Given the description of an element on the screen output the (x, y) to click on. 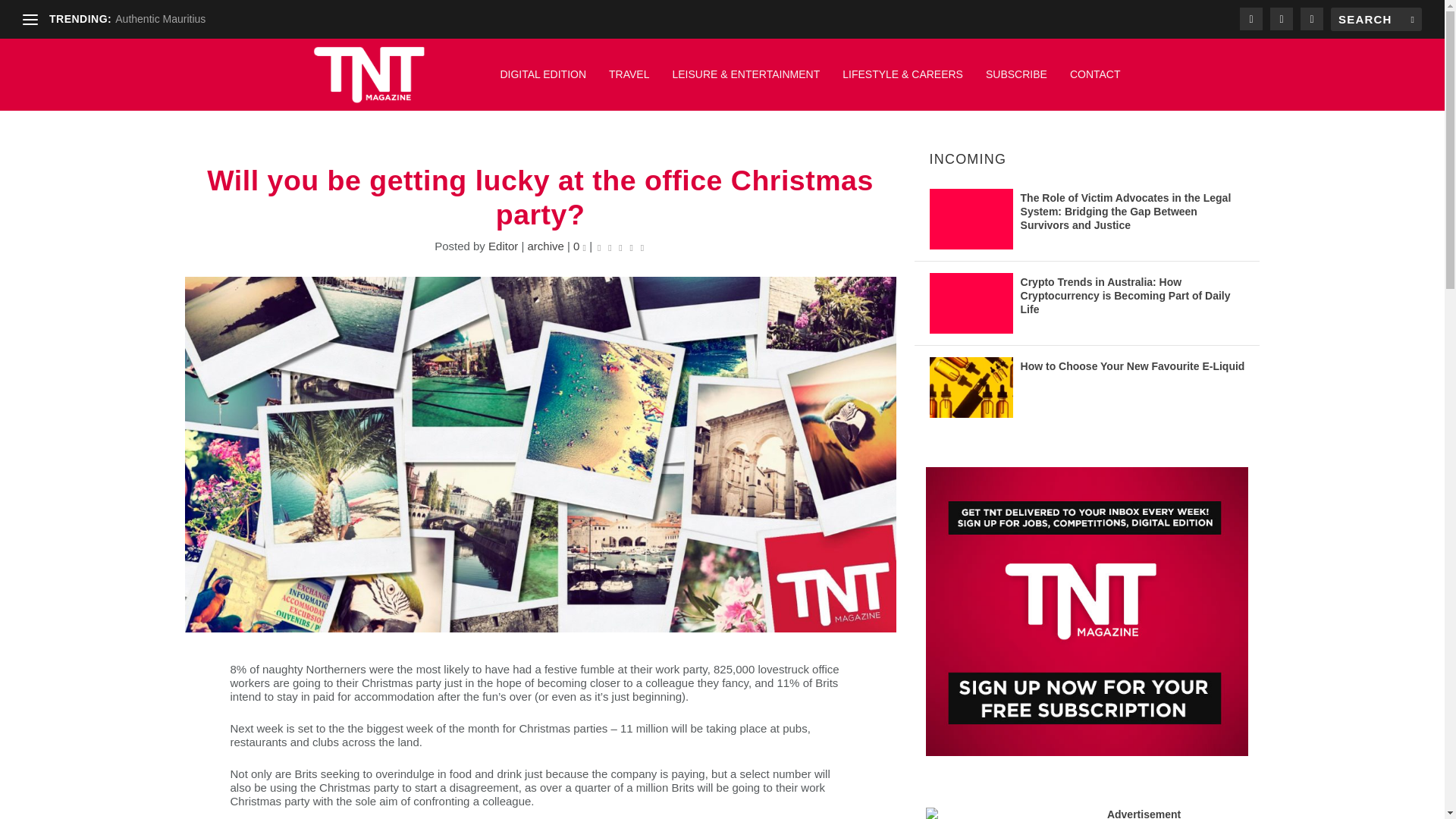
0 (579, 245)
DIGITAL EDITION (542, 82)
SUBSCRIBE (1015, 82)
Rating: 0.00 (620, 246)
Search for: (1376, 19)
Authentic Mauritius (160, 19)
Posts by Editor (502, 245)
archive (545, 245)
Editor (502, 245)
